Given the description of an element on the screen output the (x, y) to click on. 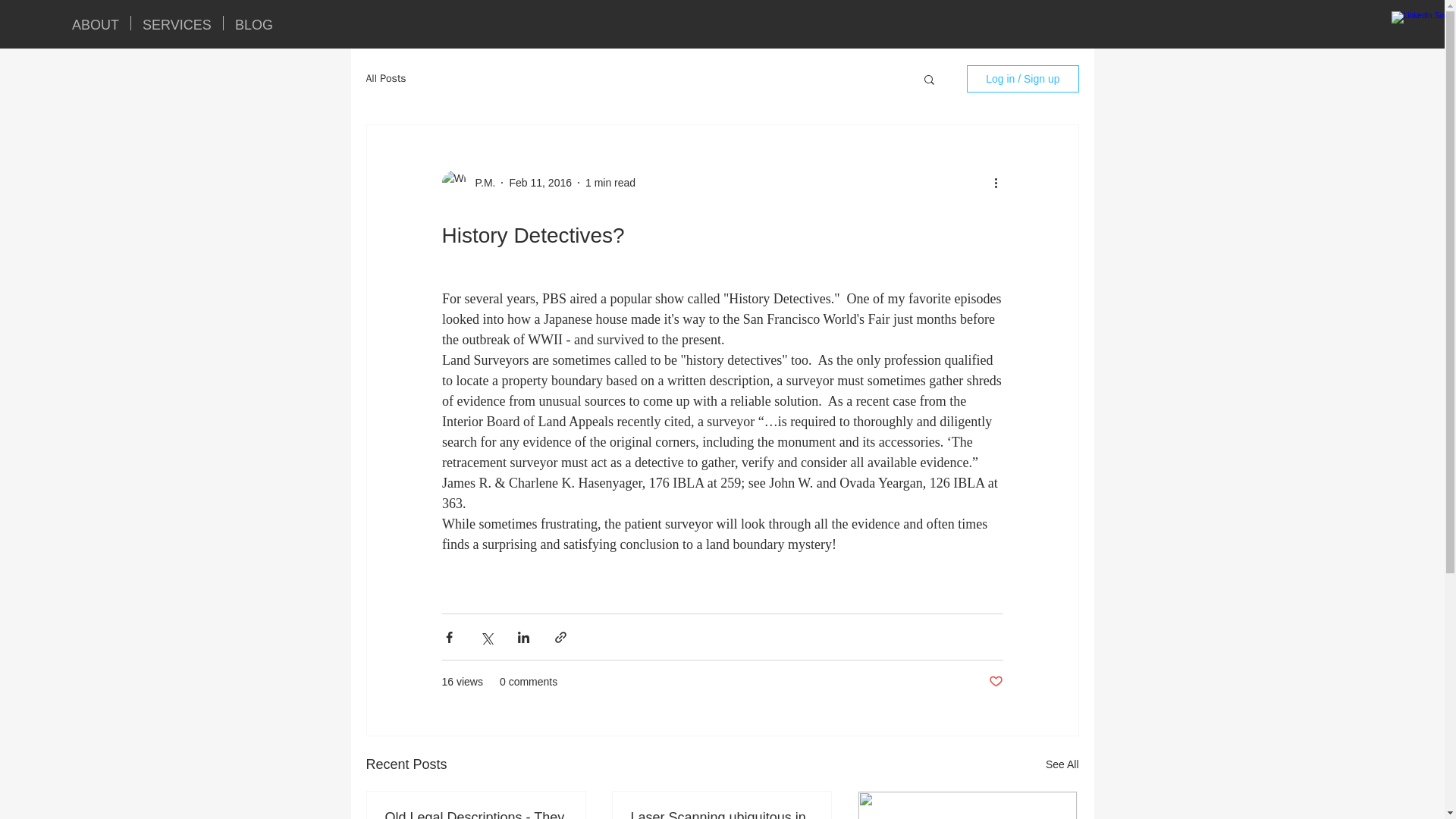
SERVICES (176, 22)
All Posts (385, 78)
Laser Scanning ubiquitous in modern archeology (721, 814)
Post not marked as liked (995, 682)
See All (1061, 764)
Old Legal Descriptions - They Can Hurt (476, 814)
Feb 11, 2016 (540, 182)
P.M. (480, 182)
ABOUT (96, 22)
BLOG (253, 22)
